Given the description of an element on the screen output the (x, y) to click on. 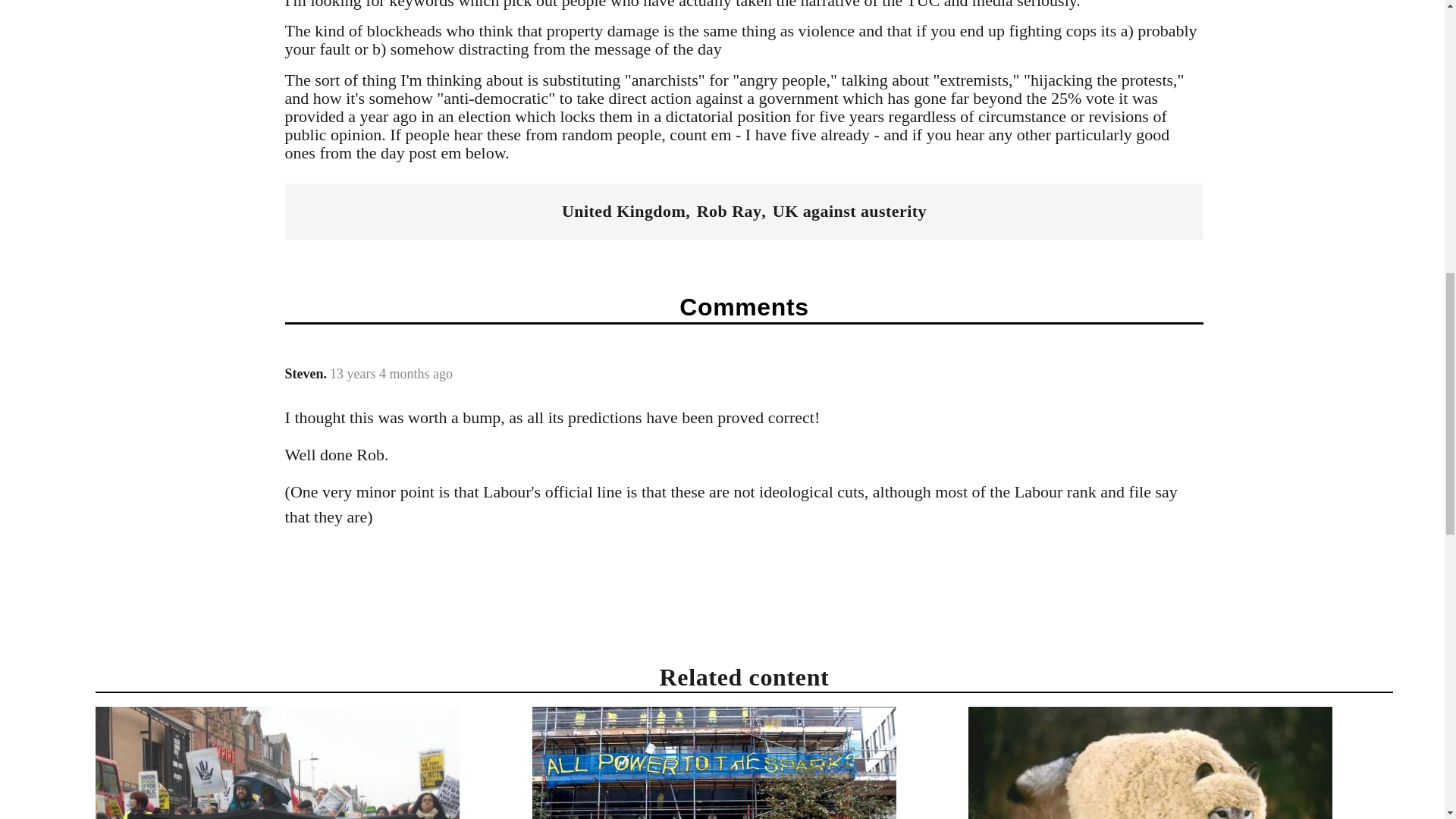
UK against austerity (849, 211)
United Kingdom (623, 211)
Rob Ray (729, 211)
